Given the description of an element on the screen output the (x, y) to click on. 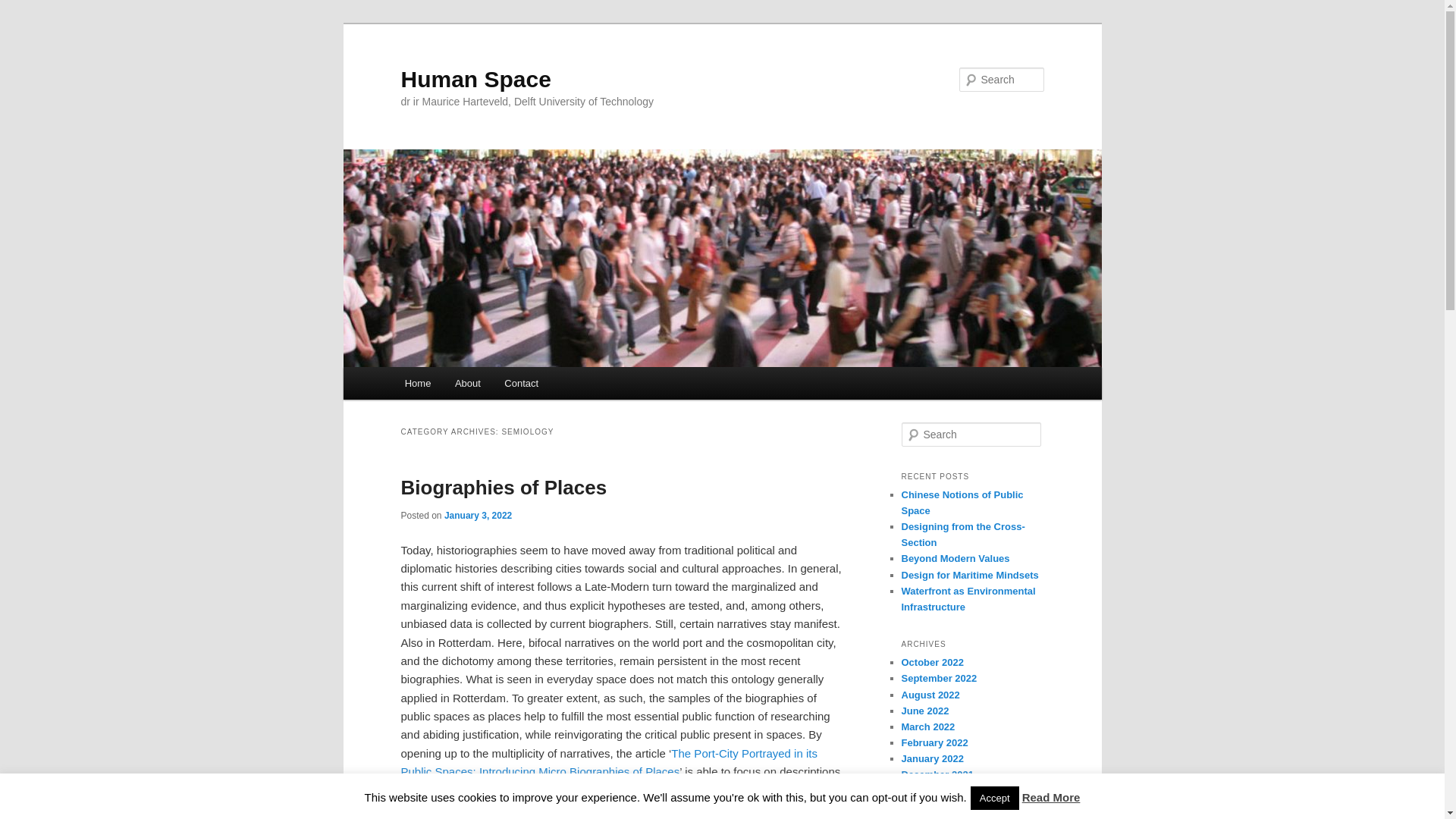
Search (24, 8)
15:26 (478, 515)
Human Space (475, 78)
About (467, 382)
January 3, 2022 (478, 515)
Home (417, 382)
Biographies of Places (503, 486)
Contact (521, 382)
